Given the description of an element on the screen output the (x, y) to click on. 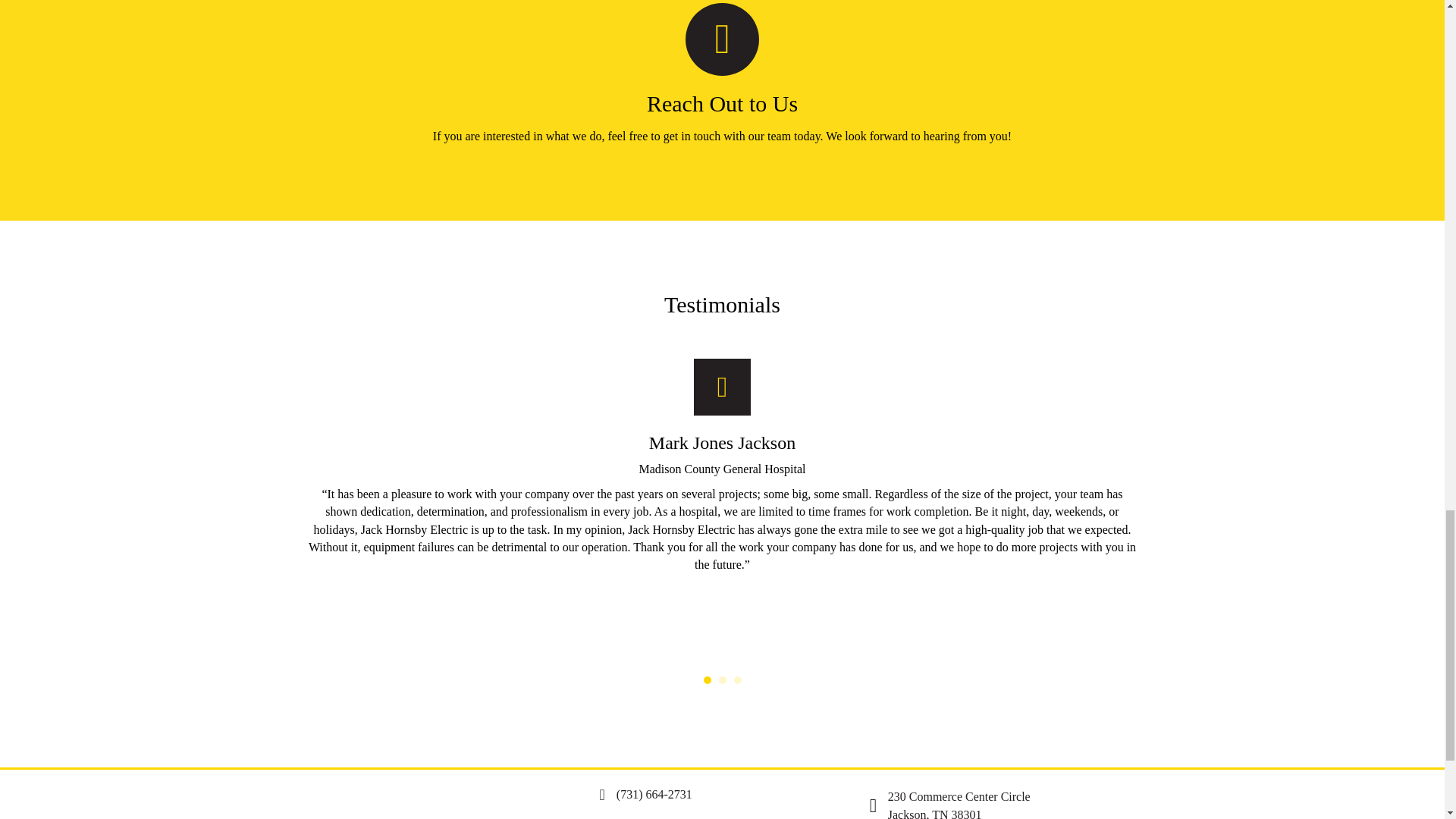
1 (707, 679)
3 (737, 679)
2 (959, 804)
